Given the description of an element on the screen output the (x, y) to click on. 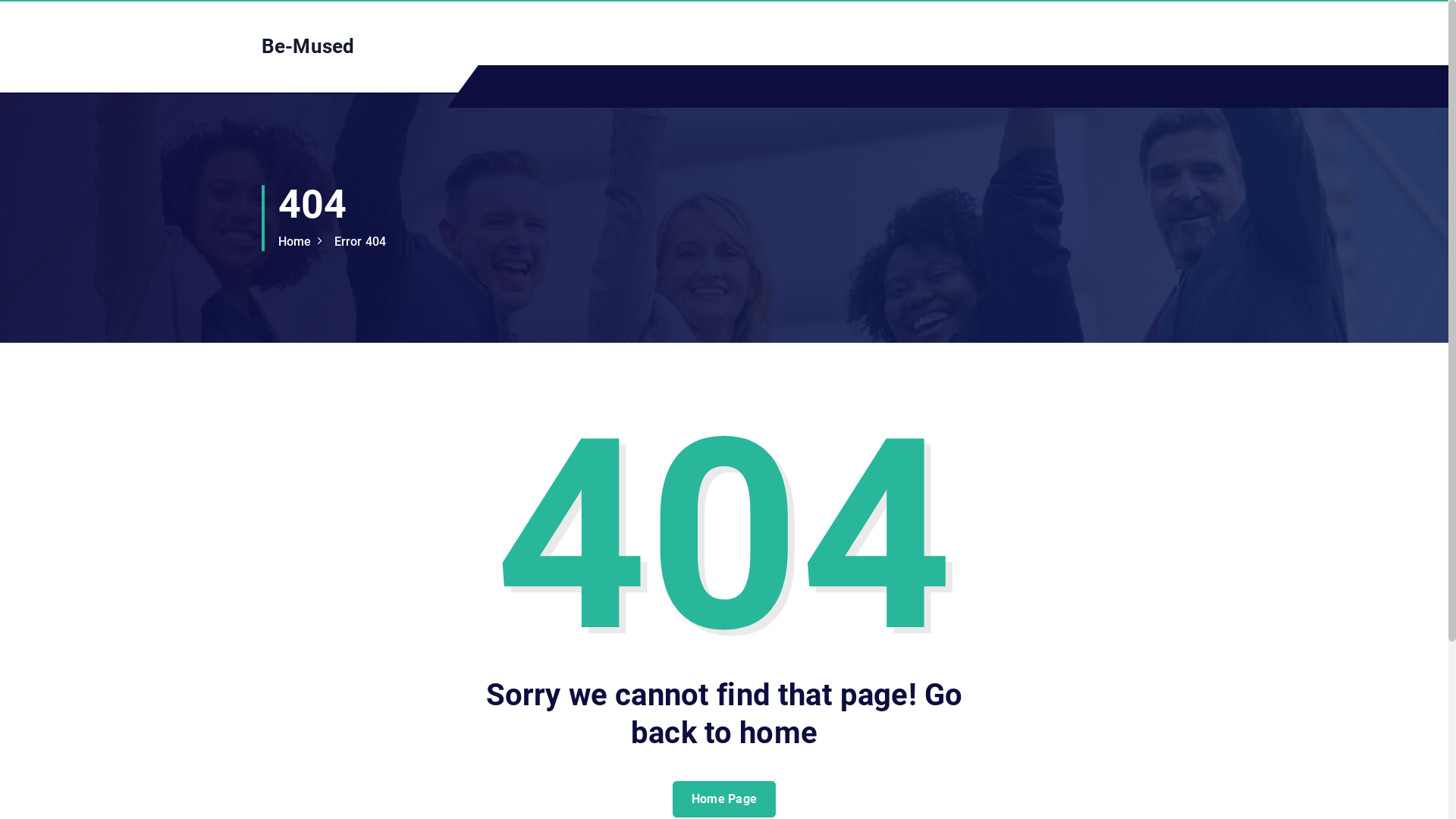
Be-Mused Element type: text (307, 46)
Error 404 Element type: text (359, 241)
Home Element type: text (294, 241)
Home Page Element type: text (724, 799)
